Given the description of an element on the screen output the (x, y) to click on. 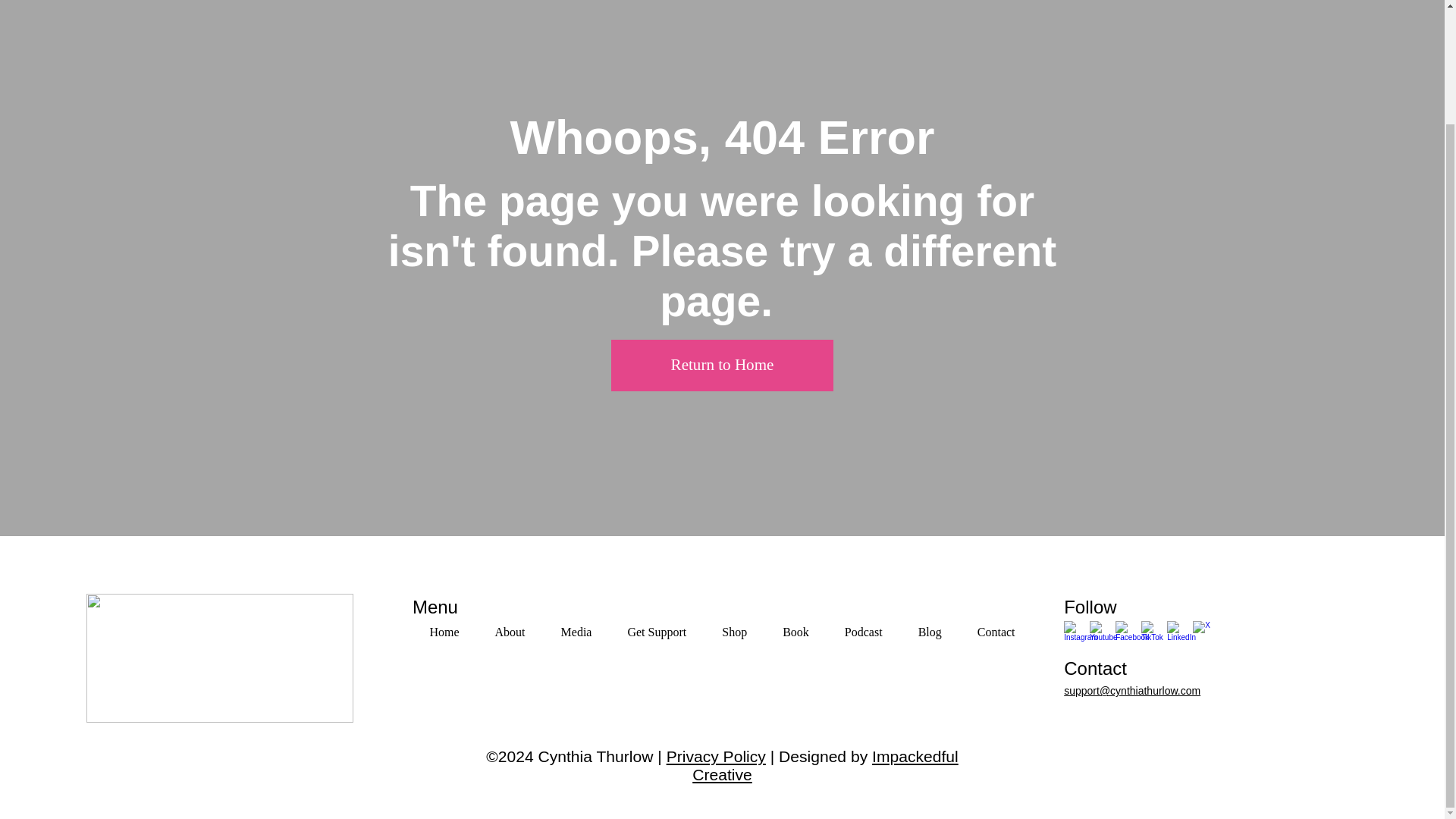
Impackedful Creative (825, 764)
Return to Home (721, 365)
Media (575, 631)
About (509, 631)
Privacy Policy (722, 631)
Home (715, 755)
